Given the description of an element on the screen output the (x, y) to click on. 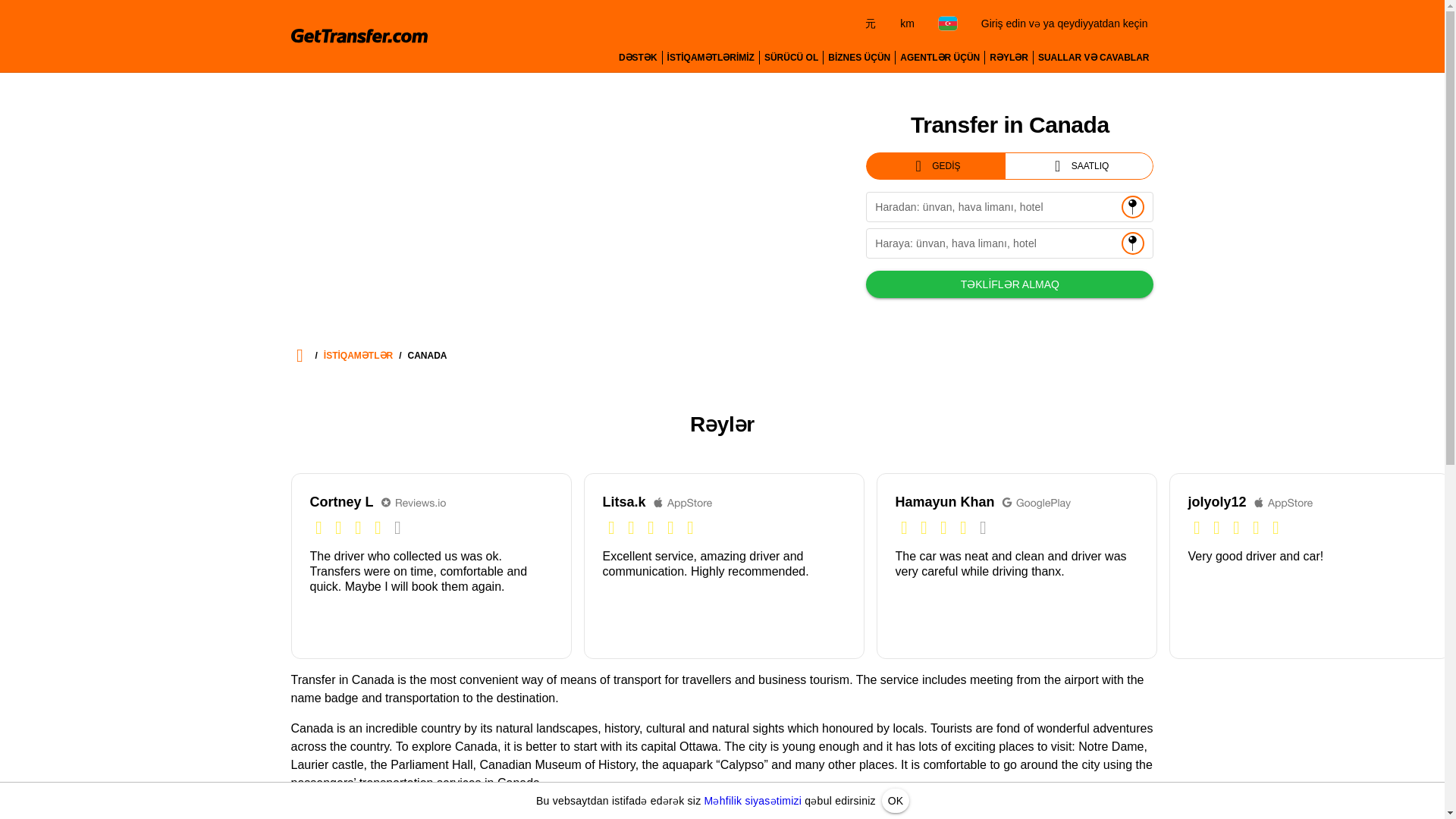
OK (895, 800)
SAATLIQ (1080, 165)
CANADA (426, 355)
